Given the description of an element on the screen output the (x, y) to click on. 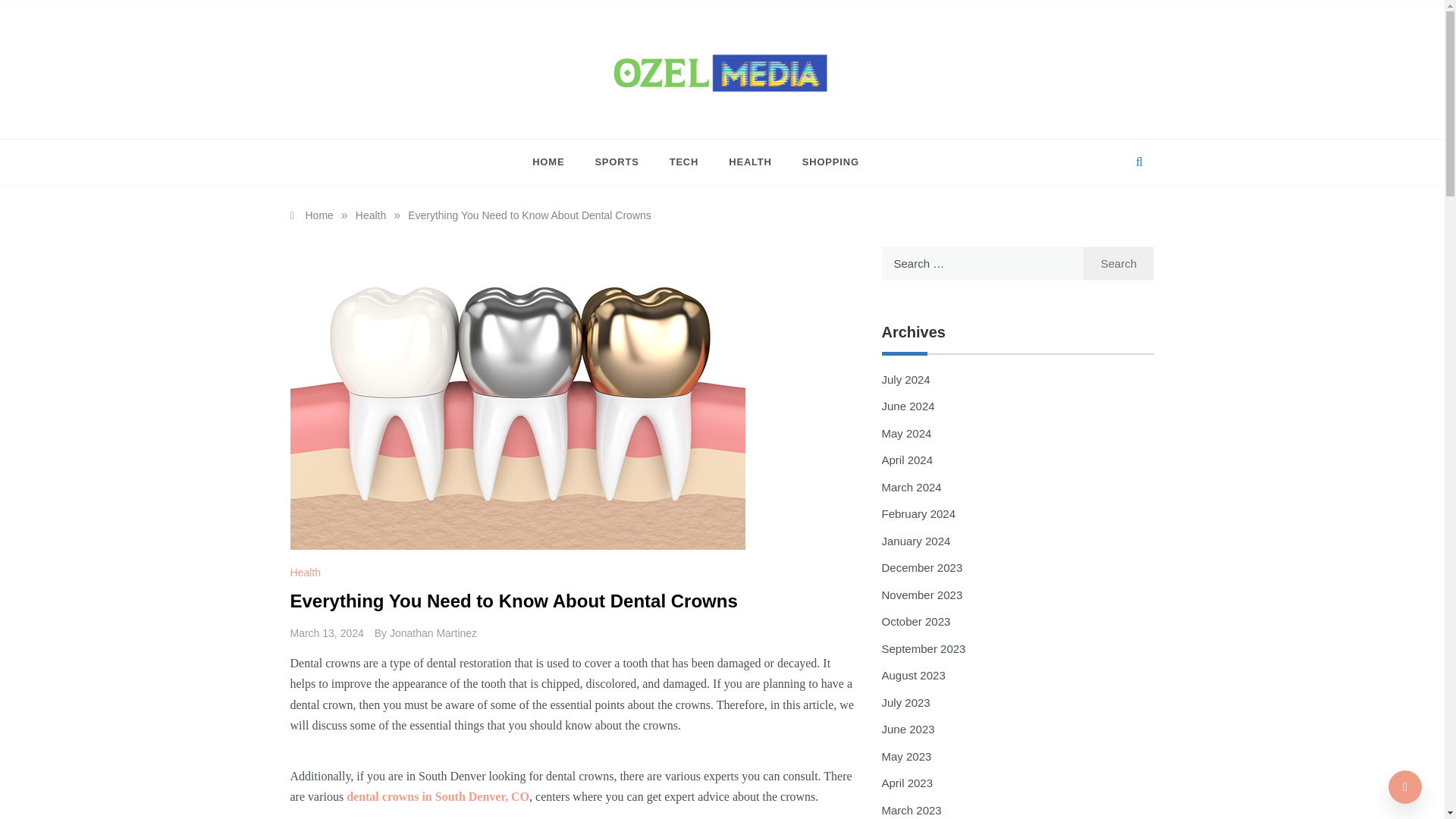
Health (306, 572)
February 2024 (917, 513)
HEALTH (750, 162)
Ozel Media (551, 124)
June 2024 (907, 405)
March 2024 (910, 486)
Everything You Need to Know About Dental Crowns (528, 215)
HOME (555, 162)
March 13, 2024 (325, 633)
September 2023 (922, 648)
